Given the description of an element on the screen output the (x, y) to click on. 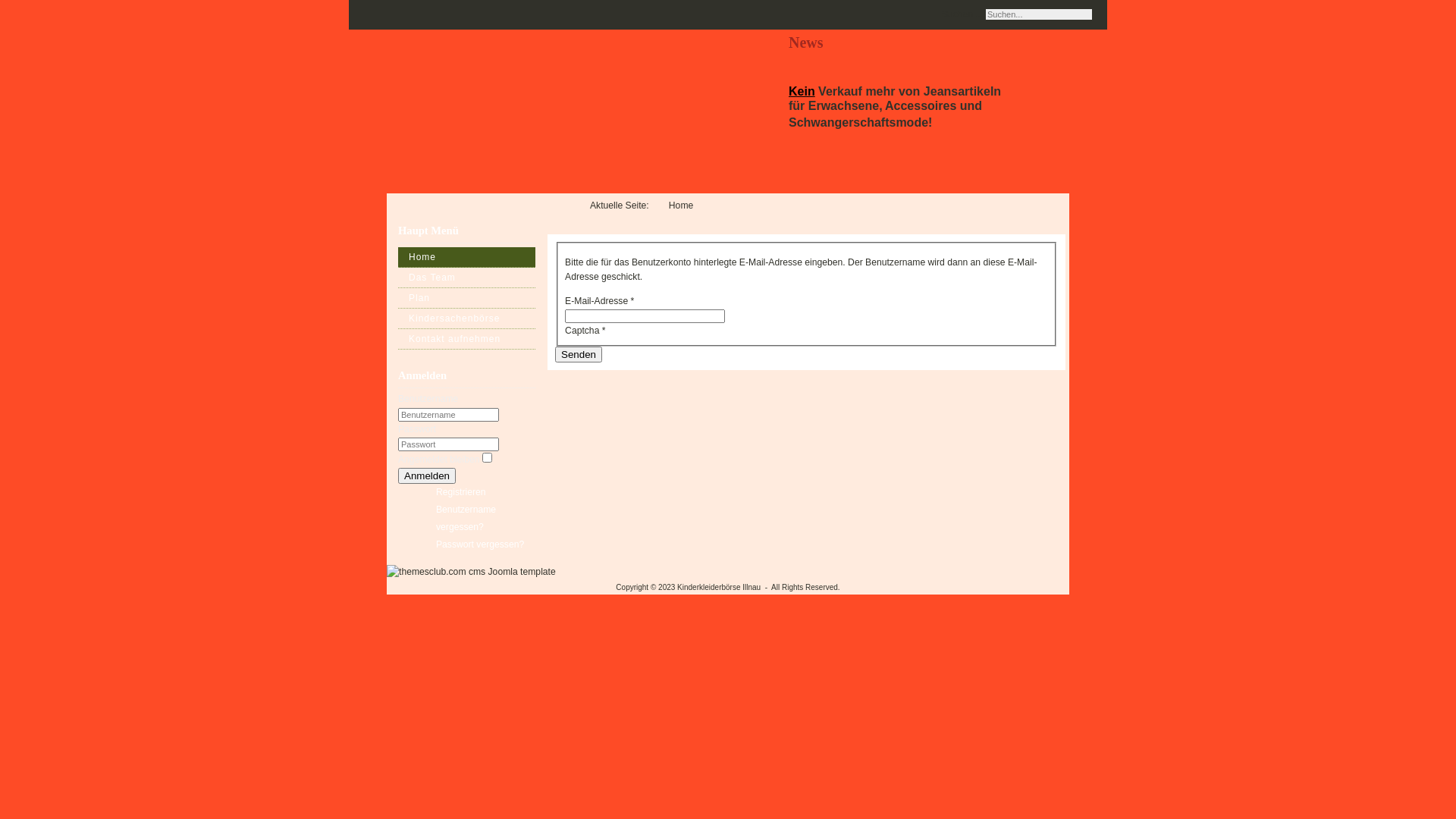
Anmelden Element type: text (426, 475)
Senden Element type: text (578, 354)
Home Element type: text (466, 257)
themesclub.com cms Joomla template Element type: hover (470, 571)
Benutzername vergessen? Element type: text (465, 518)
Kontakt aufnehmen Element type: text (466, 339)
Registrieren Element type: text (461, 491)
Plan Element type: text (466, 298)
Das Team Element type: text (466, 277)
Passwort vergessen? Element type: text (480, 544)
